Given the description of an element on the screen output the (x, y) to click on. 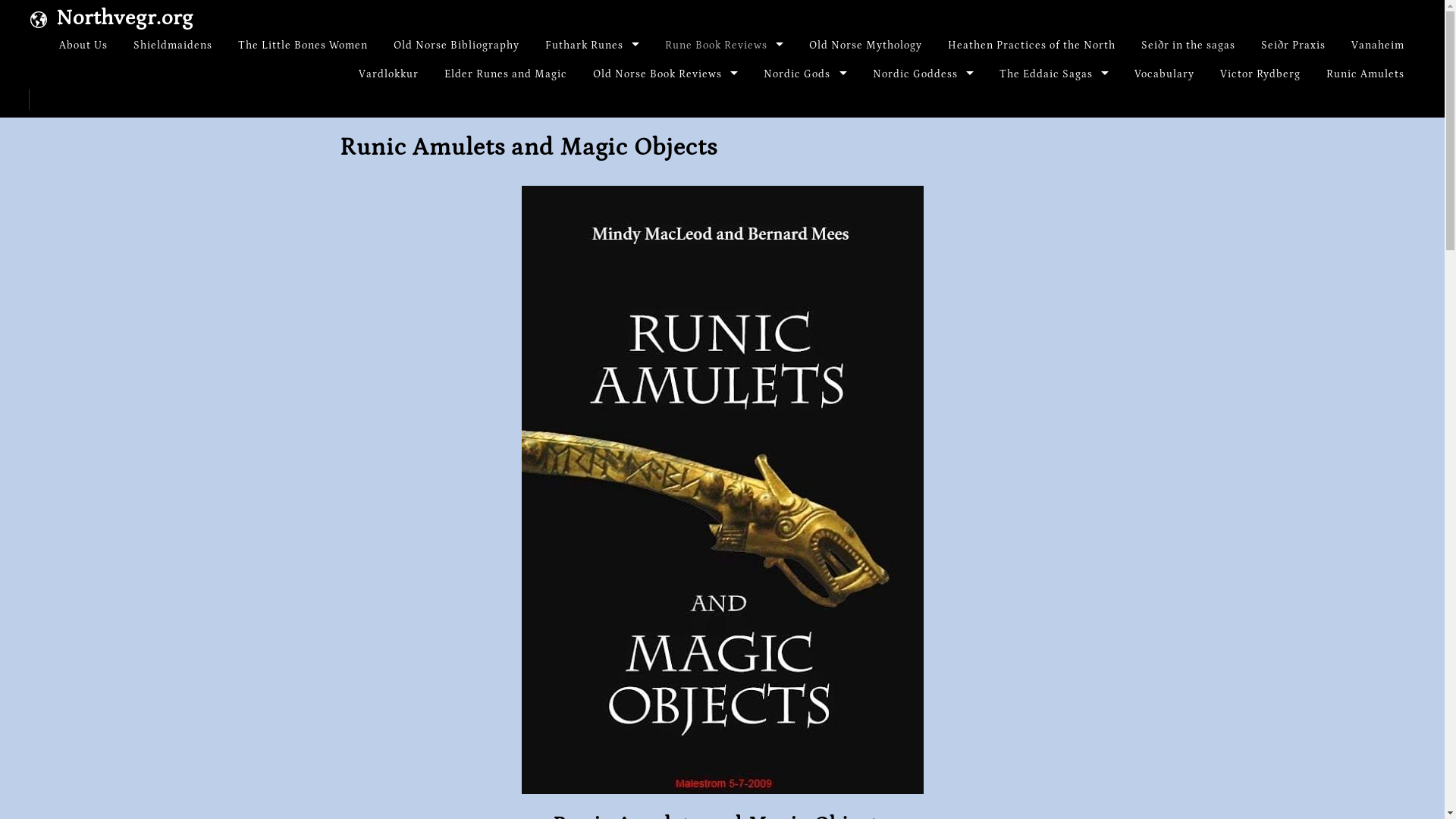
Vardlokkur (388, 73)
logo (38, 18)
Heathen Practices of the North (1031, 45)
Runic Amulets (1364, 73)
Vocabulary (1163, 73)
Elder Runes and Magic (505, 73)
Vanaheim (1377, 45)
The Little Bones Women (302, 45)
Old Norse Bibliography (456, 45)
About Us (83, 45)
Shieldmaidens (173, 45)
Northvegr.org (124, 17)
Victor Rydberg (1259, 73)
Old Norse Mythology (865, 45)
